Given the description of an element on the screen output the (x, y) to click on. 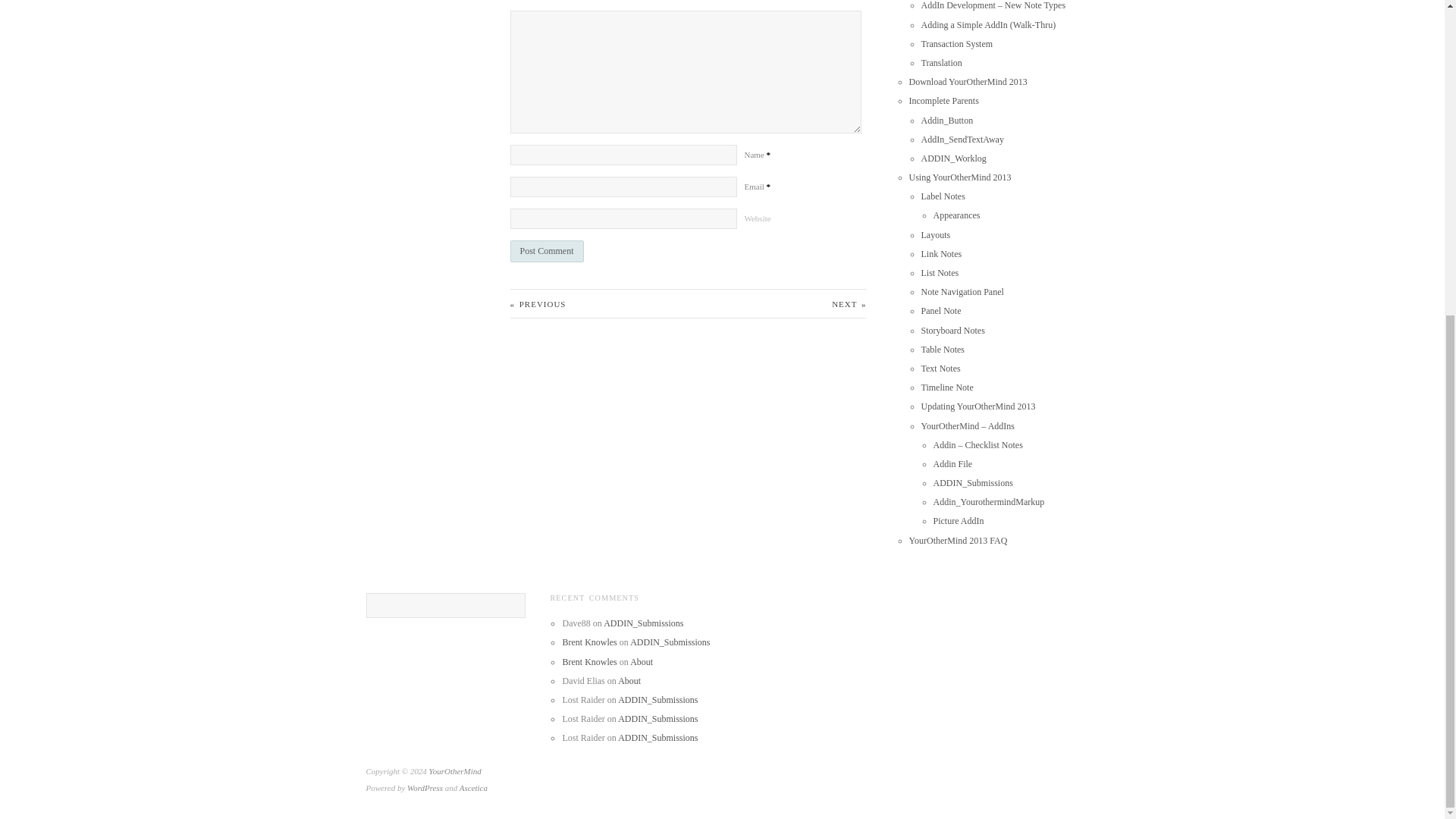
Transaction System (956, 43)
Appearances (956, 214)
Text Notes (940, 368)
Link Notes (941, 253)
Using YourOtherMind 2013 (959, 176)
Table Notes (942, 348)
Storyboard Notes (953, 330)
Note Navigation Panel (962, 291)
YourOtherMind (455, 770)
Panel Note (940, 310)
Translation (941, 62)
List Notes (940, 272)
Label Notes (943, 195)
Post Comment (546, 251)
Download YourOtherMind 2013 (967, 81)
